Given the description of an element on the screen output the (x, y) to click on. 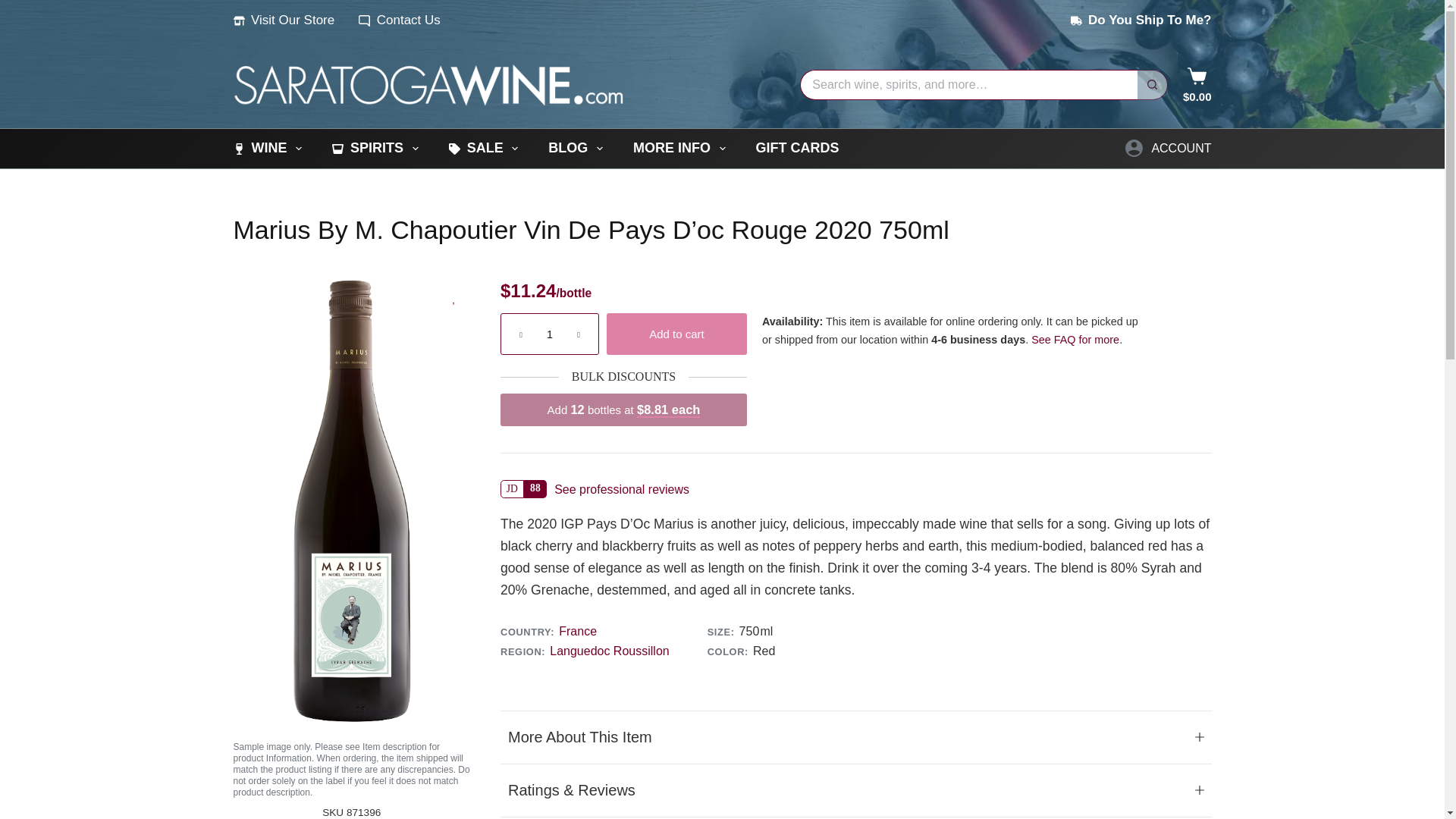
Skip to content (15, 7)
1 (549, 333)
Search for... (968, 84)
